Given the description of an element on the screen output the (x, y) to click on. 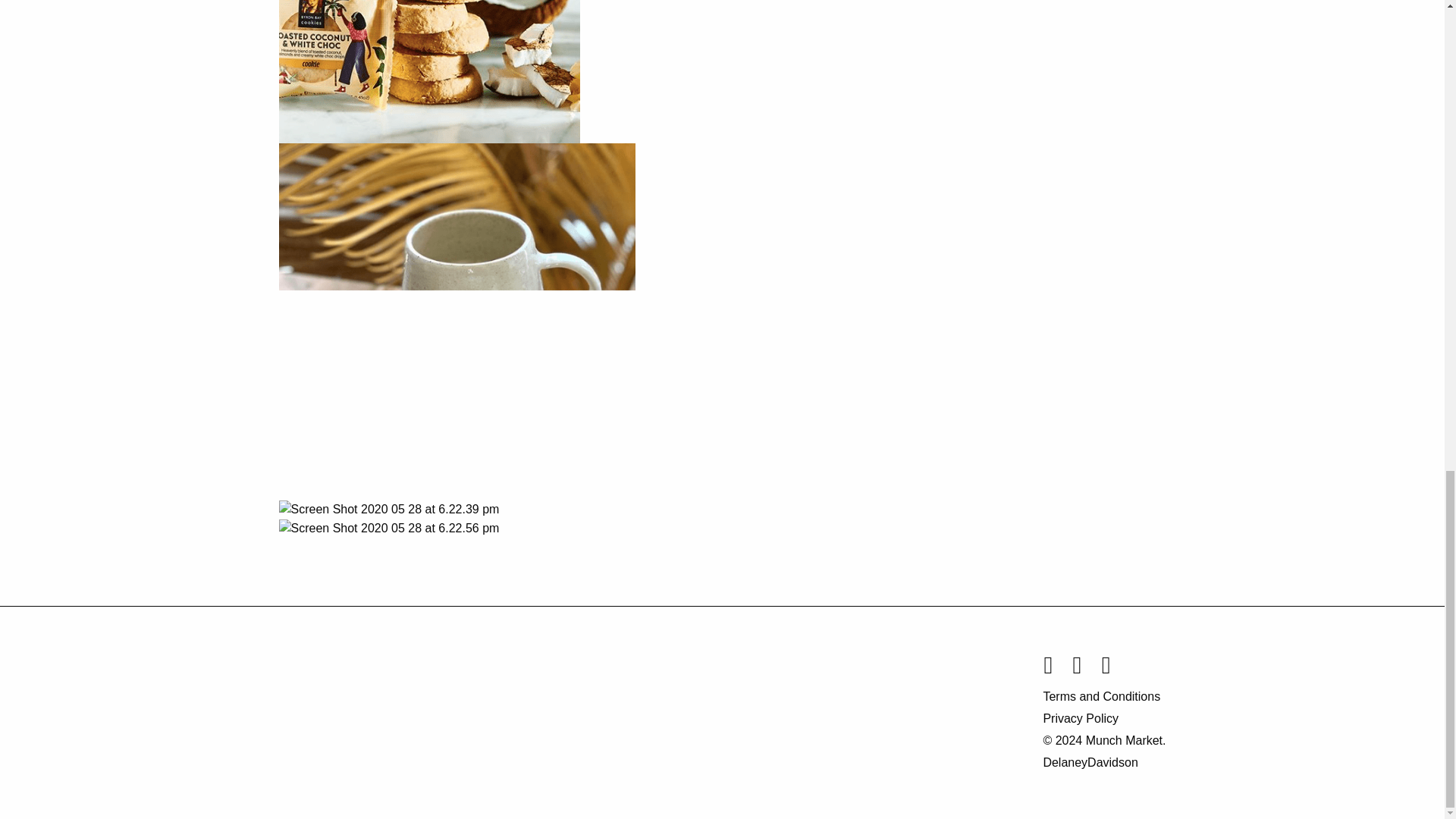
Terms and Conditions (1104, 695)
Privacy Policy (1104, 717)
DelaneyDavidson (1089, 762)
